Given the description of an element on the screen output the (x, y) to click on. 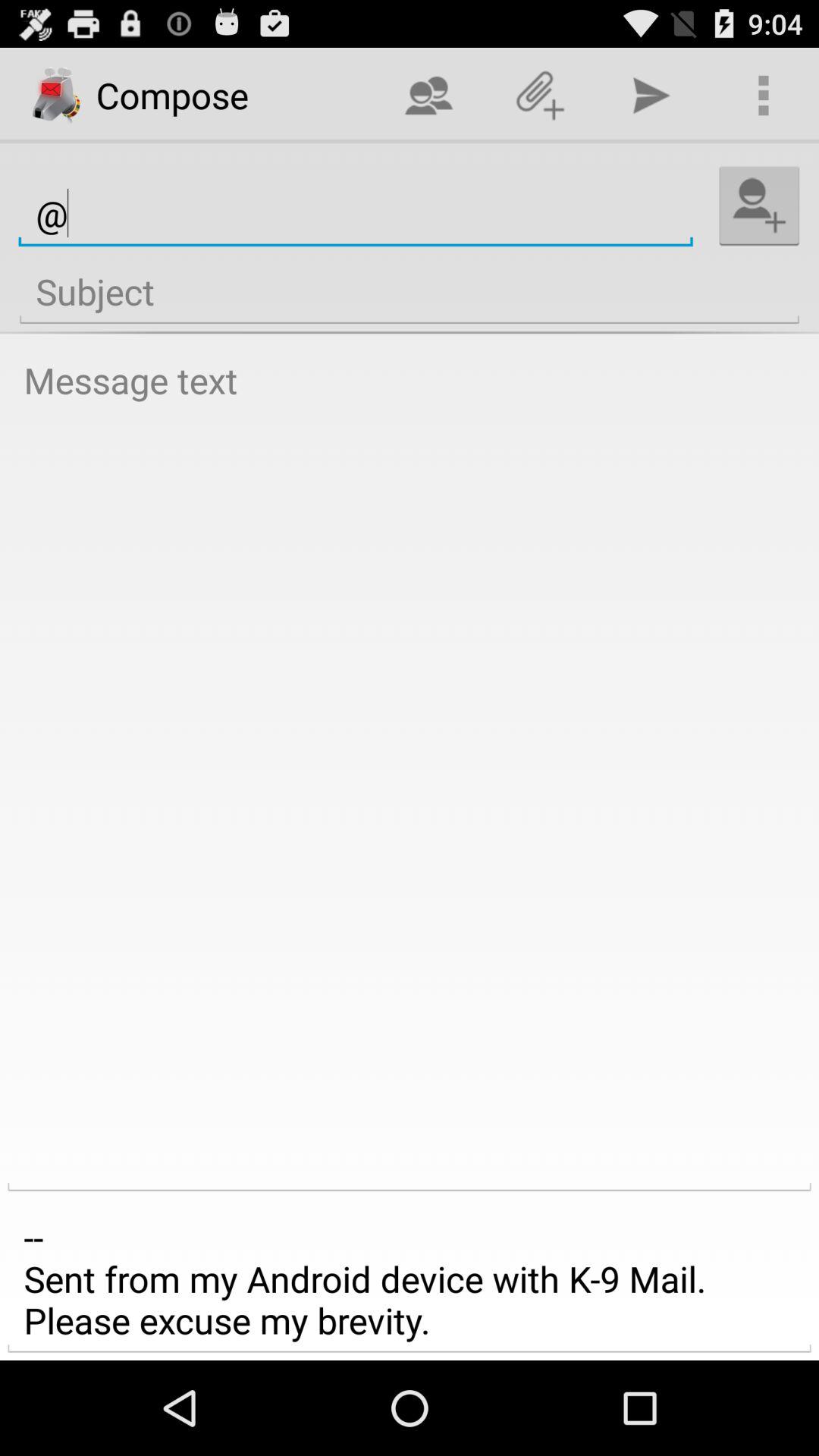
turn on item to the right of the compose (428, 95)
